Given the description of an element on the screen output the (x, y) to click on. 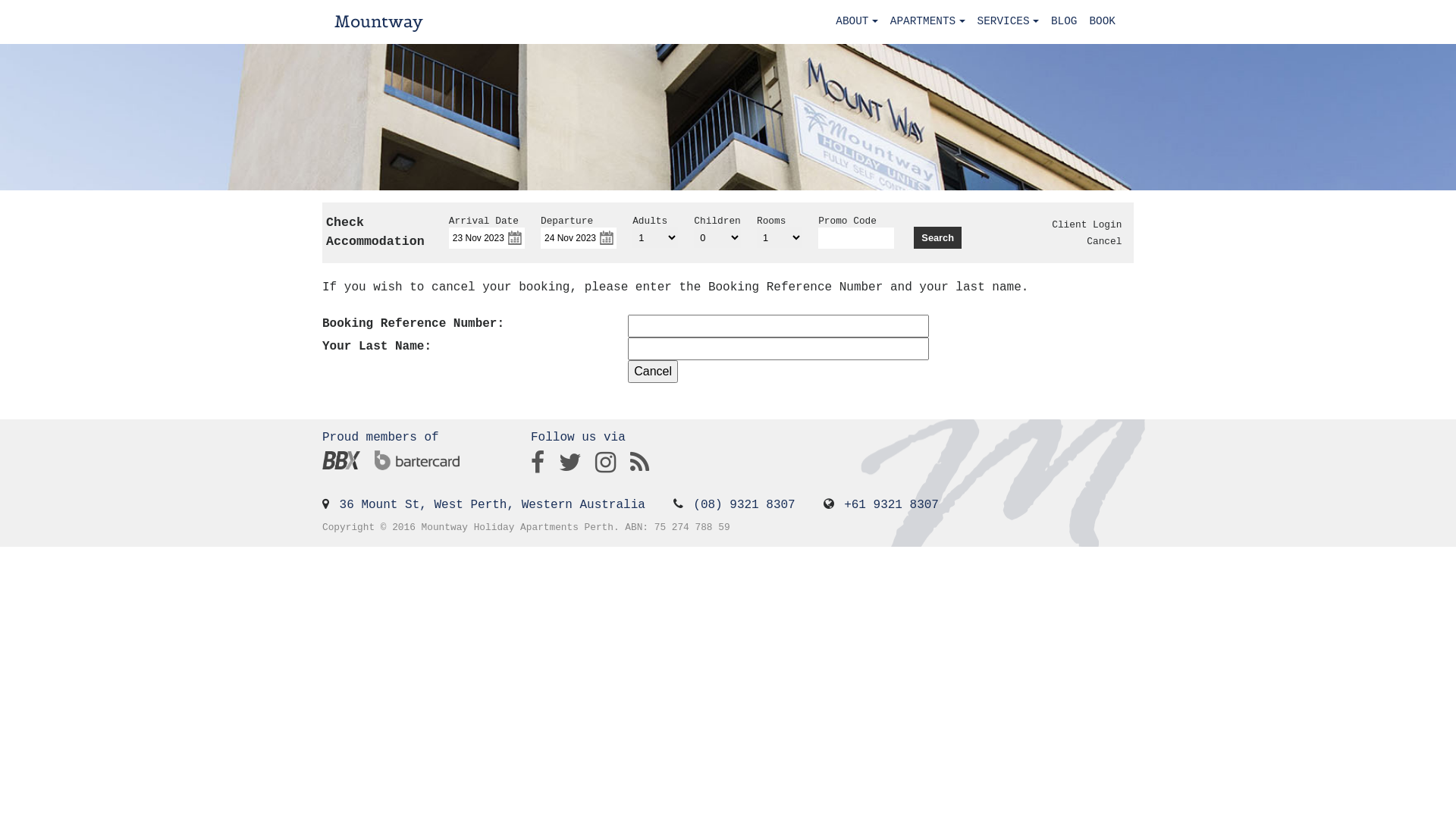
BOOK Element type: text (1101, 21)
Search Element type: text (937, 237)
BLOG Element type: text (1063, 21)
SERVICES Element type: text (1007, 21)
Cancel Element type: text (1103, 241)
36 Mount St, West Perth, Western Australia Element type: text (492, 504)
APARTMENTS Element type: text (927, 21)
Cancel Element type: text (652, 371)
(08) 9321 8307 Element type: text (743, 504)
Mountway Element type: text (378, 21)
ABOUT Element type: text (856, 21)
Client Login Element type: text (1086, 224)
+61 9321 8307 Element type: text (891, 504)
